Given the description of an element on the screen output the (x, y) to click on. 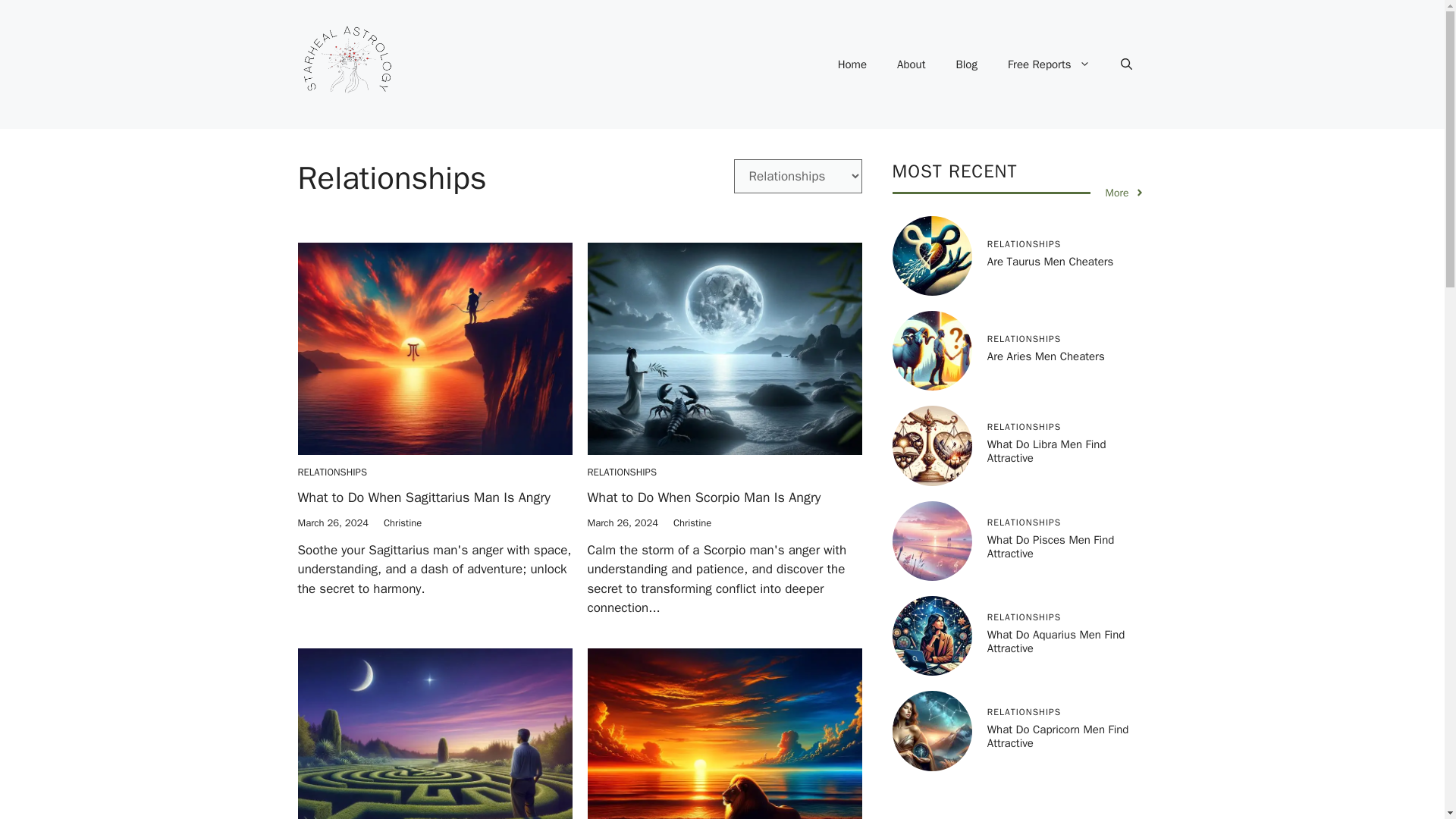
What to Do When Scorpio Man Is Angry (703, 497)
Home (852, 63)
Blog (965, 63)
RELATIONSHIPS (331, 472)
Free Reports (1048, 63)
RELATIONSHIPS (621, 472)
About (911, 63)
What to Do When Sagittarius Man Is Angry (423, 497)
